Given the description of an element on the screen output the (x, y) to click on. 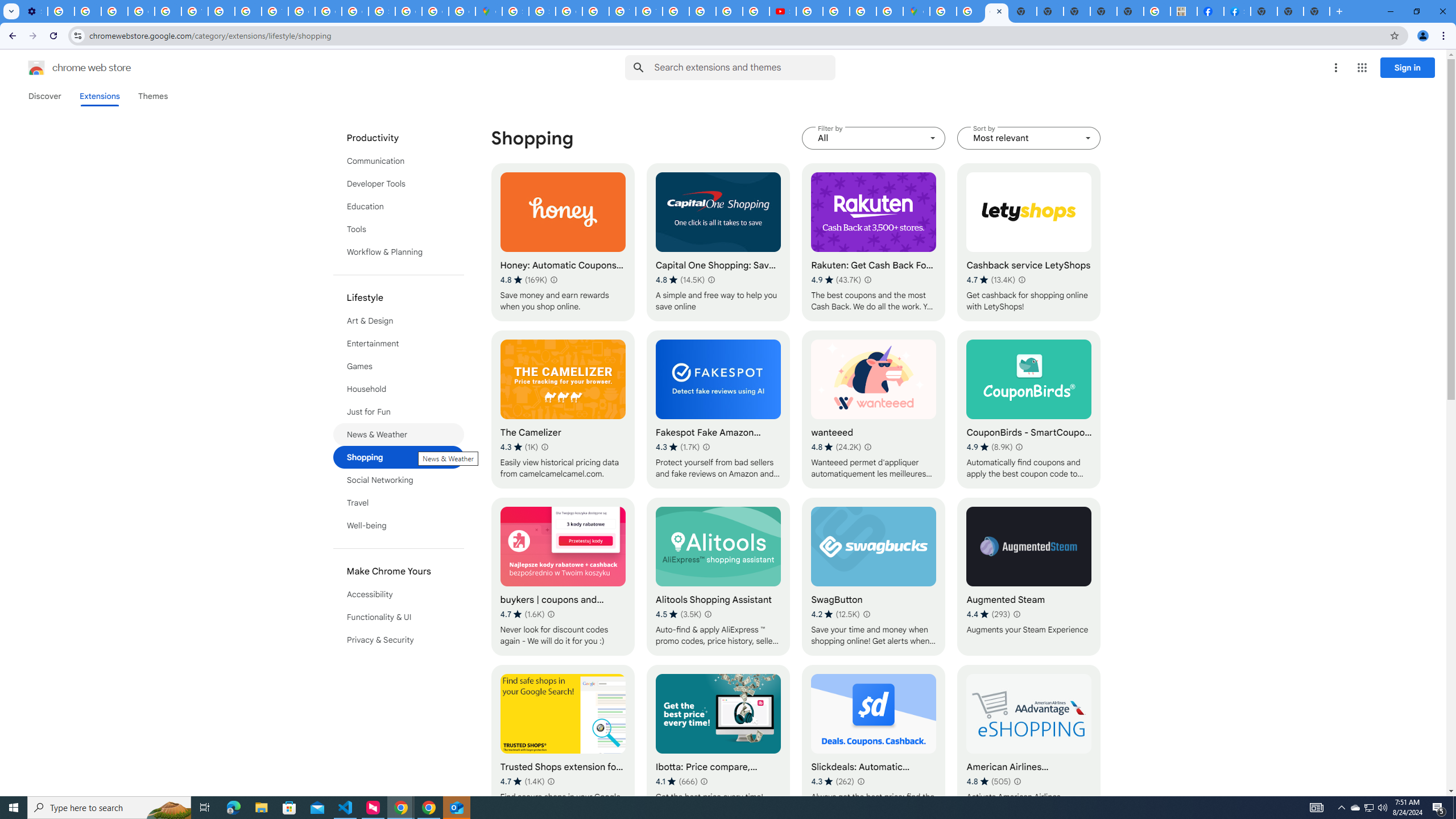
Average rating 4.4 out of 5 stars. 293 ratings. (988, 613)
SwagButton (874, 576)
Subscriptions - YouTube (782, 11)
Developer Tools (398, 182)
Chrome Web Store logo chrome web store (67, 67)
New Tab (1263, 11)
Learn more about results and reviews "The Camelizer" (544, 446)
CouponBirds - SmartCoupon Coupon Finder (1028, 409)
Google Maps (488, 11)
MILEY CYRUS. (1183, 11)
